Given the description of an element on the screen output the (x, y) to click on. 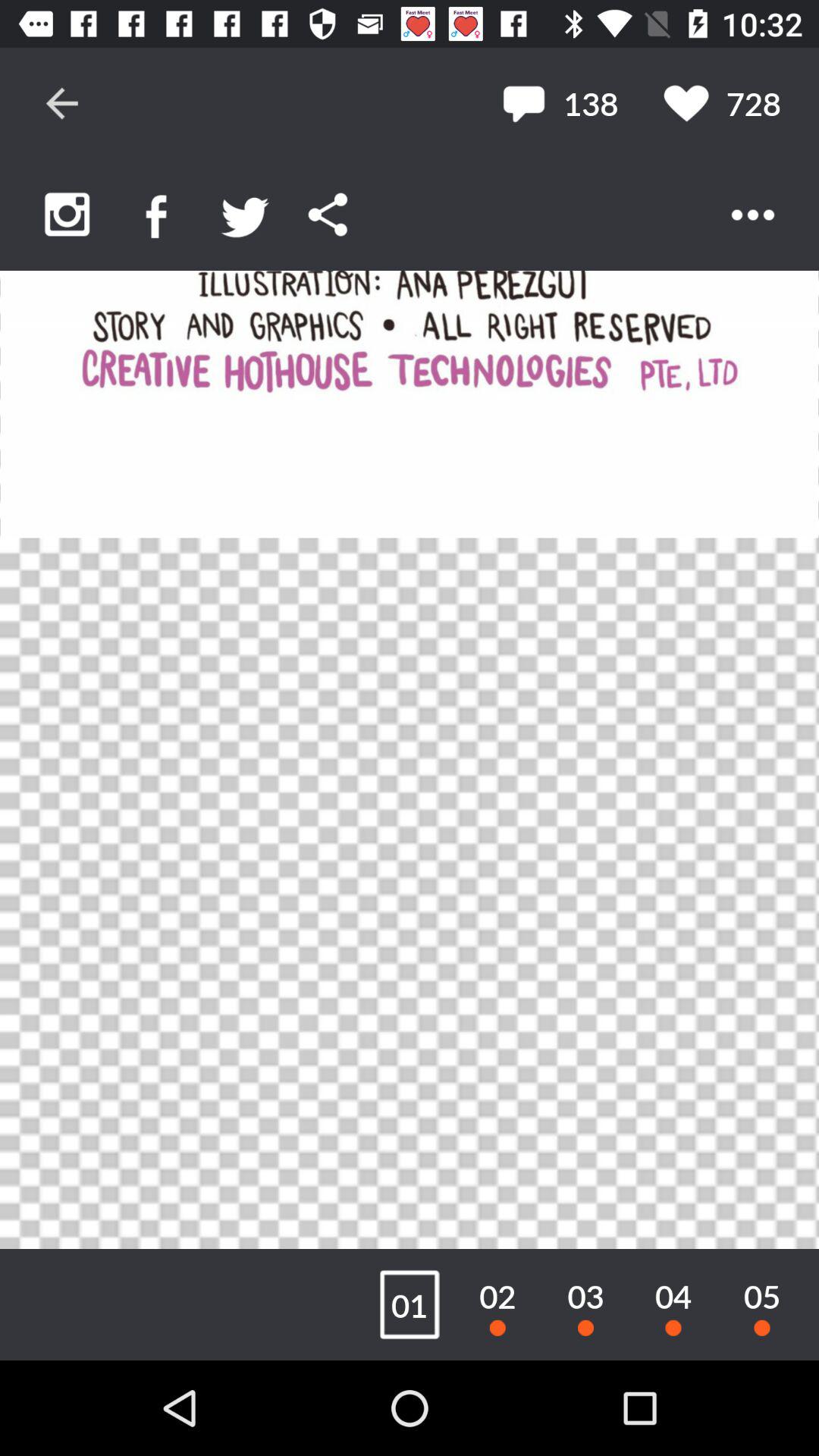
turn off item to the right of the 138 (722, 103)
